Given the description of an element on the screen output the (x, y) to click on. 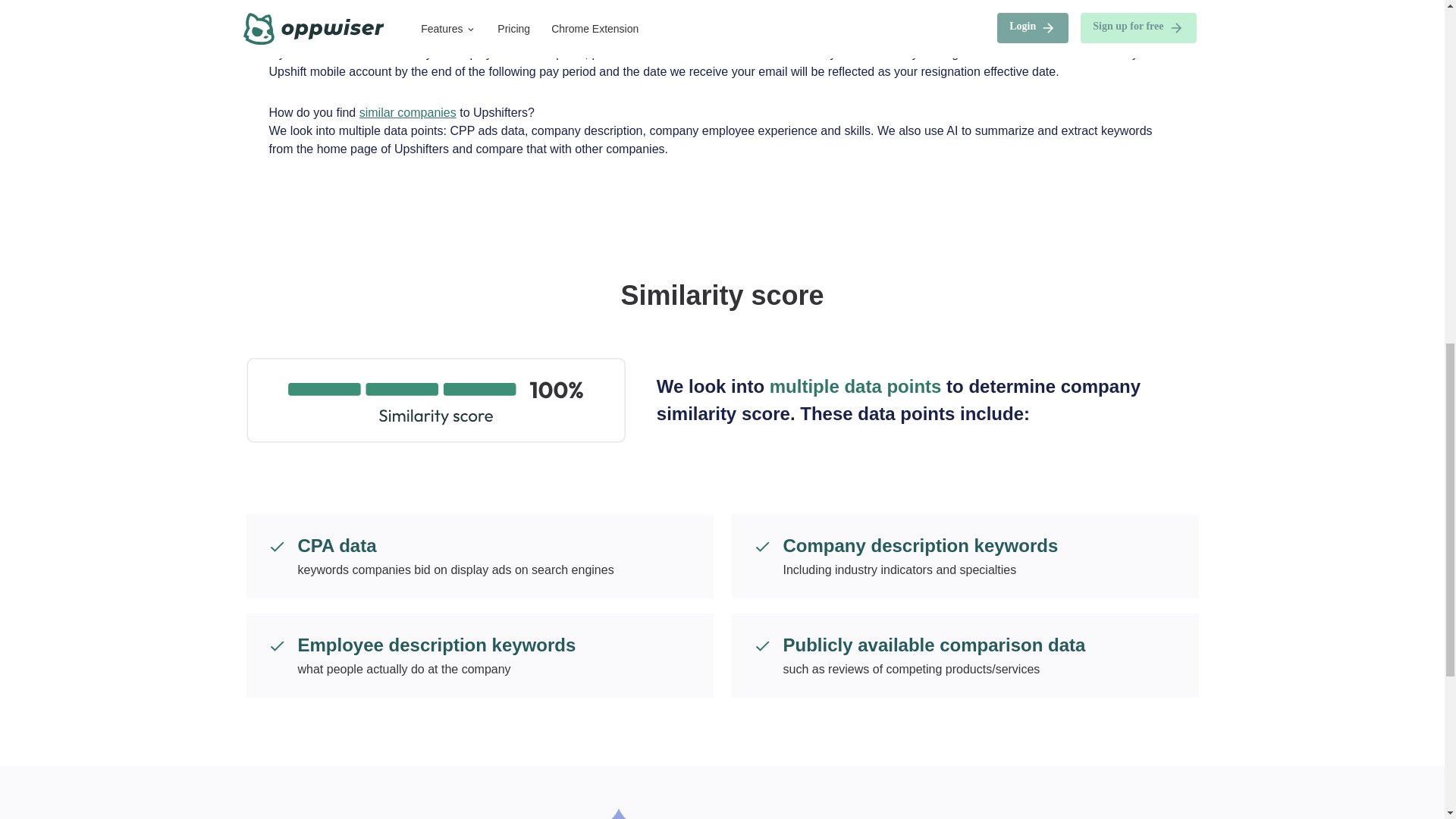
similar companies (408, 112)
